Given the description of an element on the screen output the (x, y) to click on. 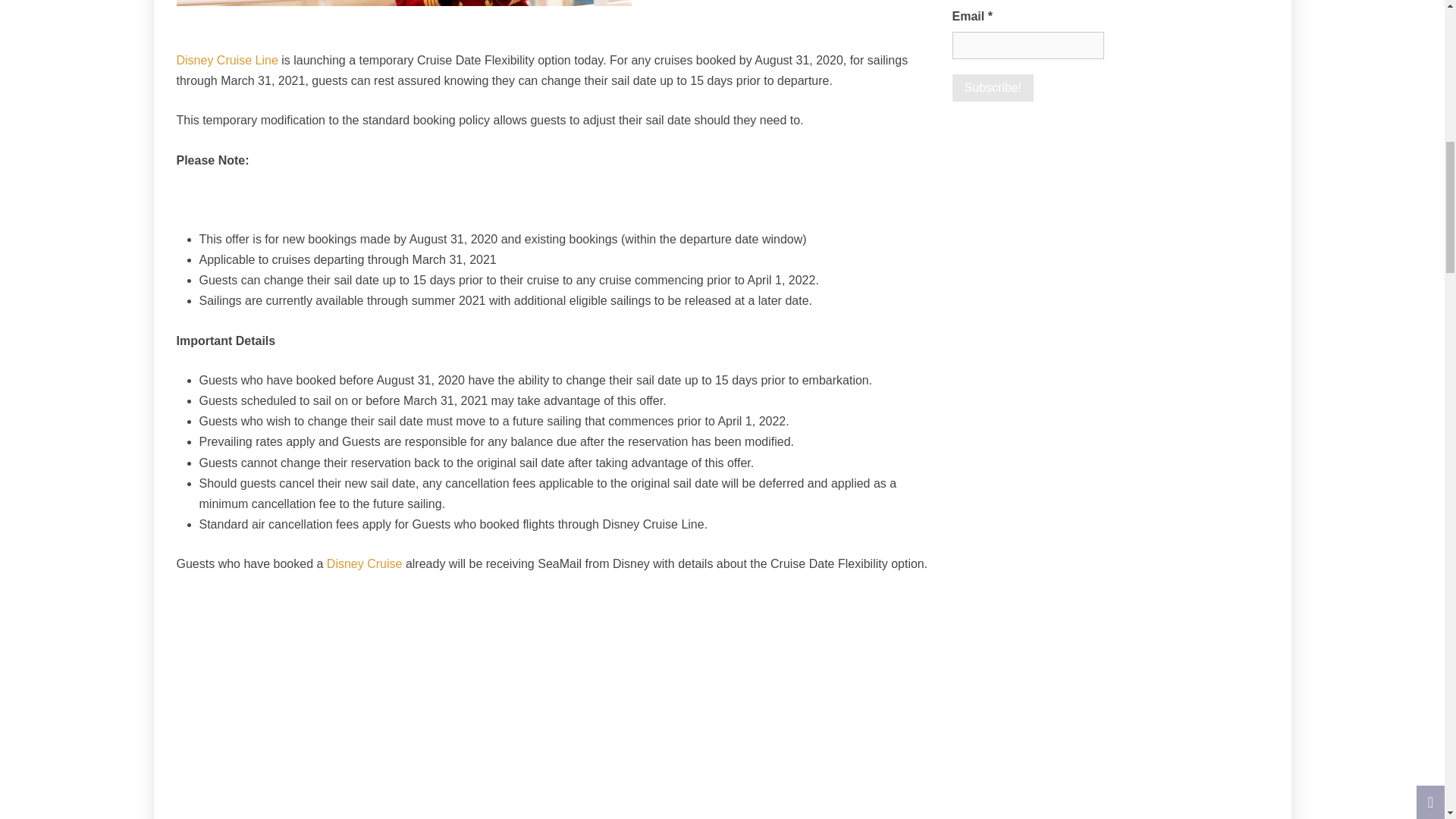
Email (1027, 44)
Subscribe! (992, 87)
New Cruise Date Flexibility Coming to Disney Cruise Line (403, 2)
